Given the description of an element on the screen output the (x, y) to click on. 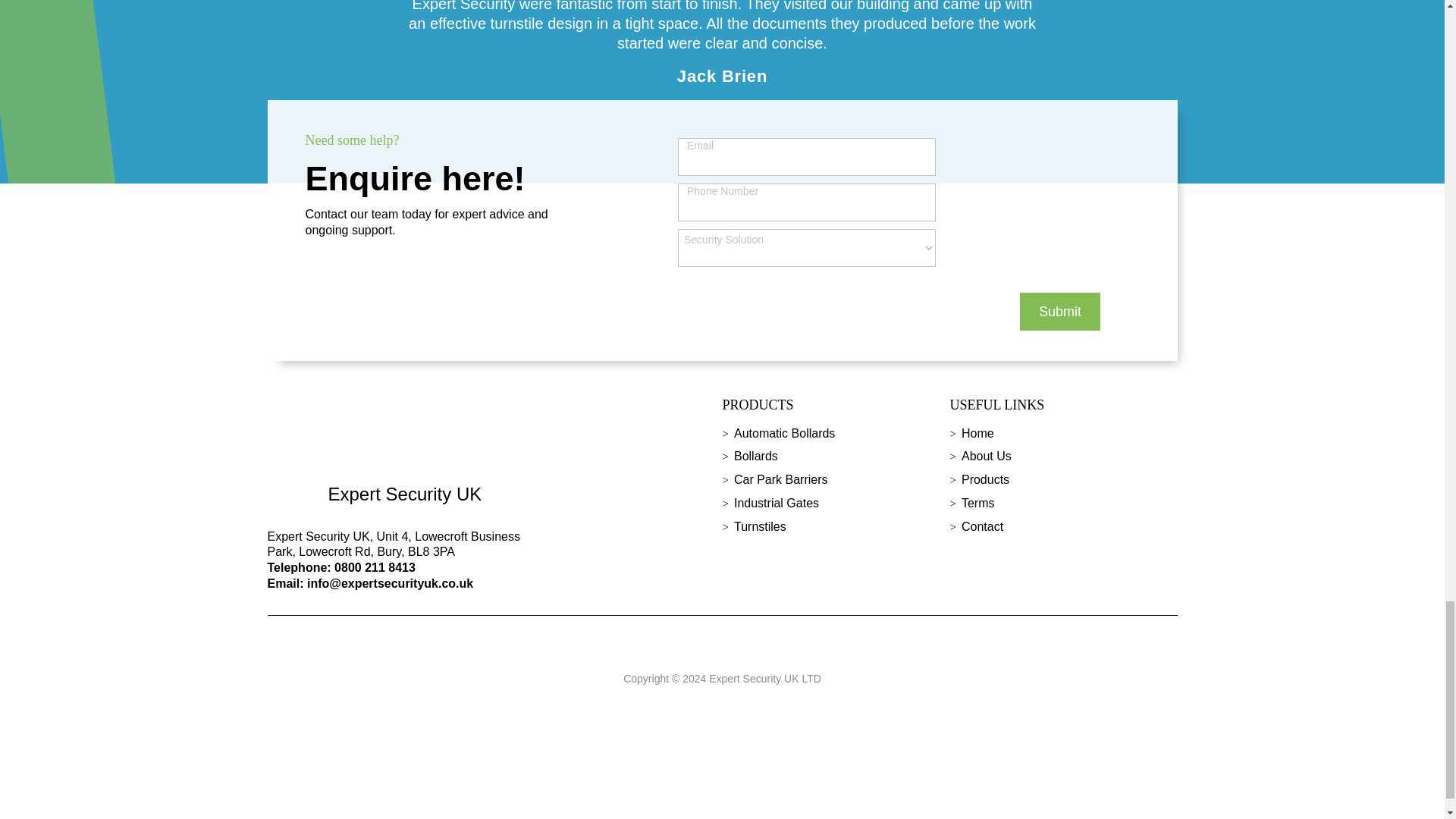
Submit (1060, 311)
